Given the description of an element on the screen output the (x, y) to click on. 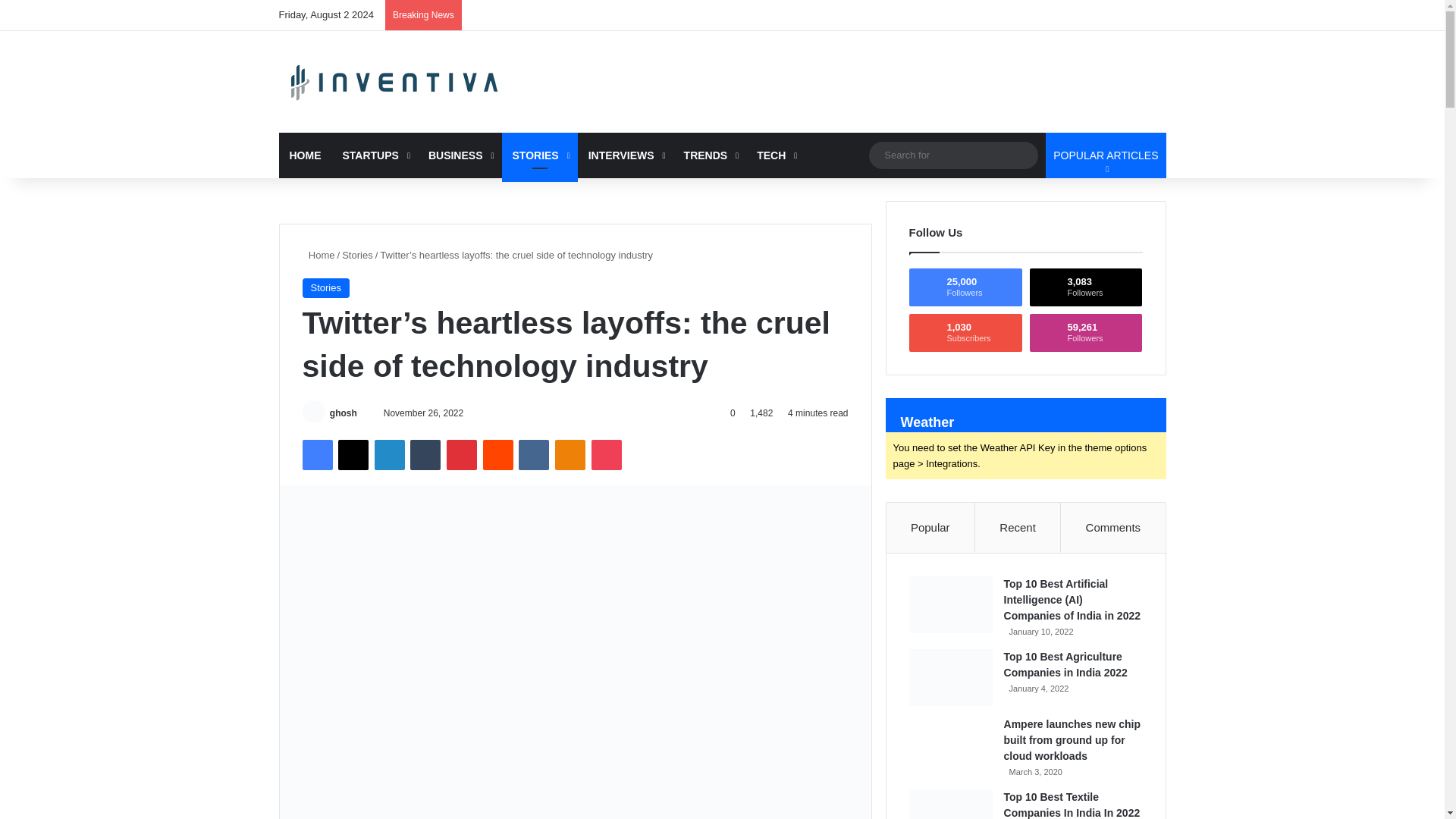
Tumblr (425, 454)
HOME (305, 155)
Search for (953, 154)
VKontakte (533, 454)
X (352, 454)
ghosh (343, 412)
LinkedIn (389, 454)
Pinterest (461, 454)
Reddit (498, 454)
BUSINESS (459, 155)
